Given the description of an element on the screen output the (x, y) to click on. 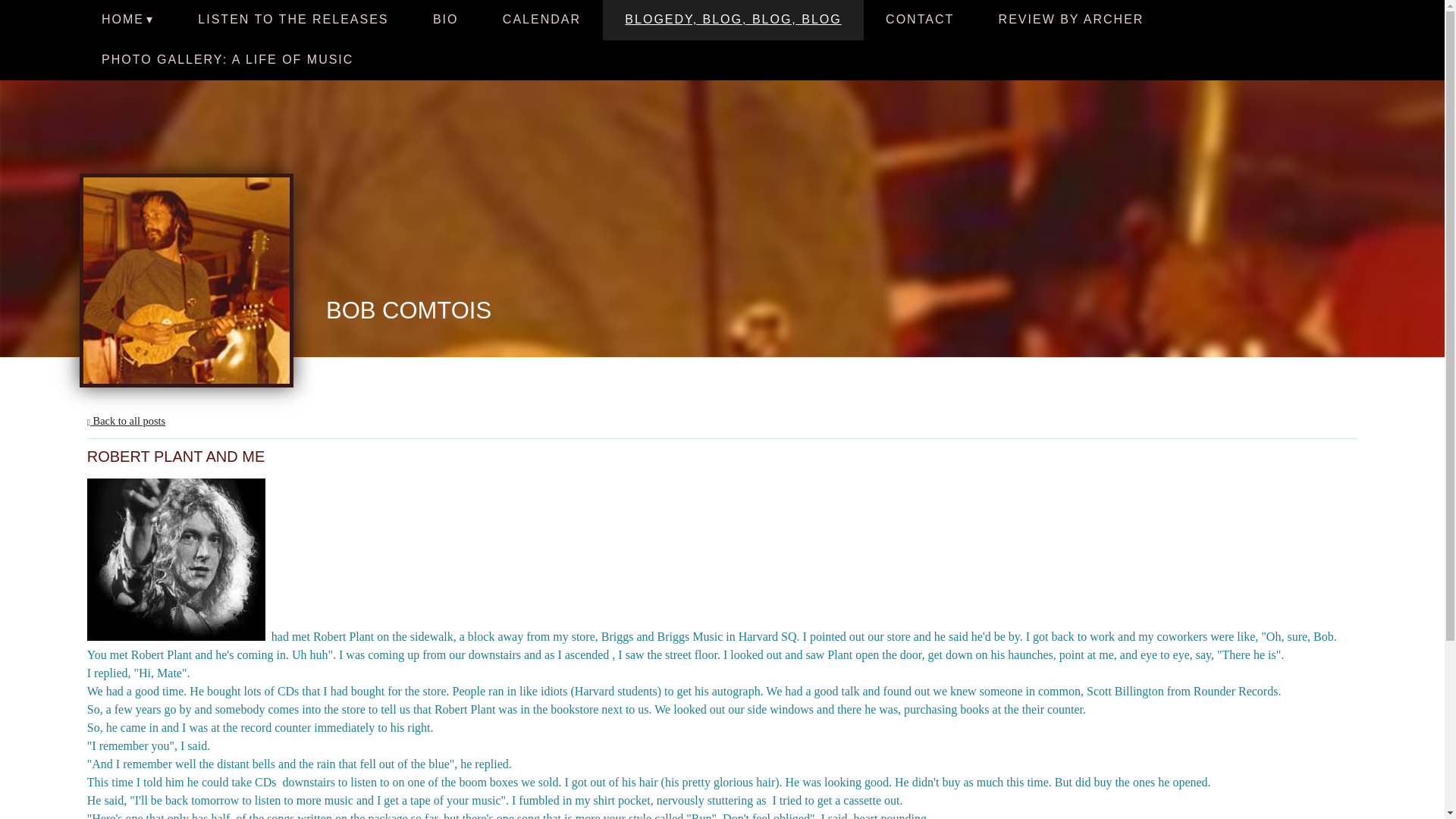
REVIEW BY ARCHER (1070, 20)
BOB COMTOIS (409, 312)
BLOGEDY, BLOG, BLOG, BLOG (732, 20)
CALENDAR (542, 20)
PHOTO GALLERY: A LIFE OF MUSIC (227, 60)
Back to all posts (126, 420)
HOME (128, 20)
CONTACT (919, 20)
LISTEN TO THE RELEASES (293, 20)
BIO (445, 20)
